Given the description of an element on the screen output the (x, y) to click on. 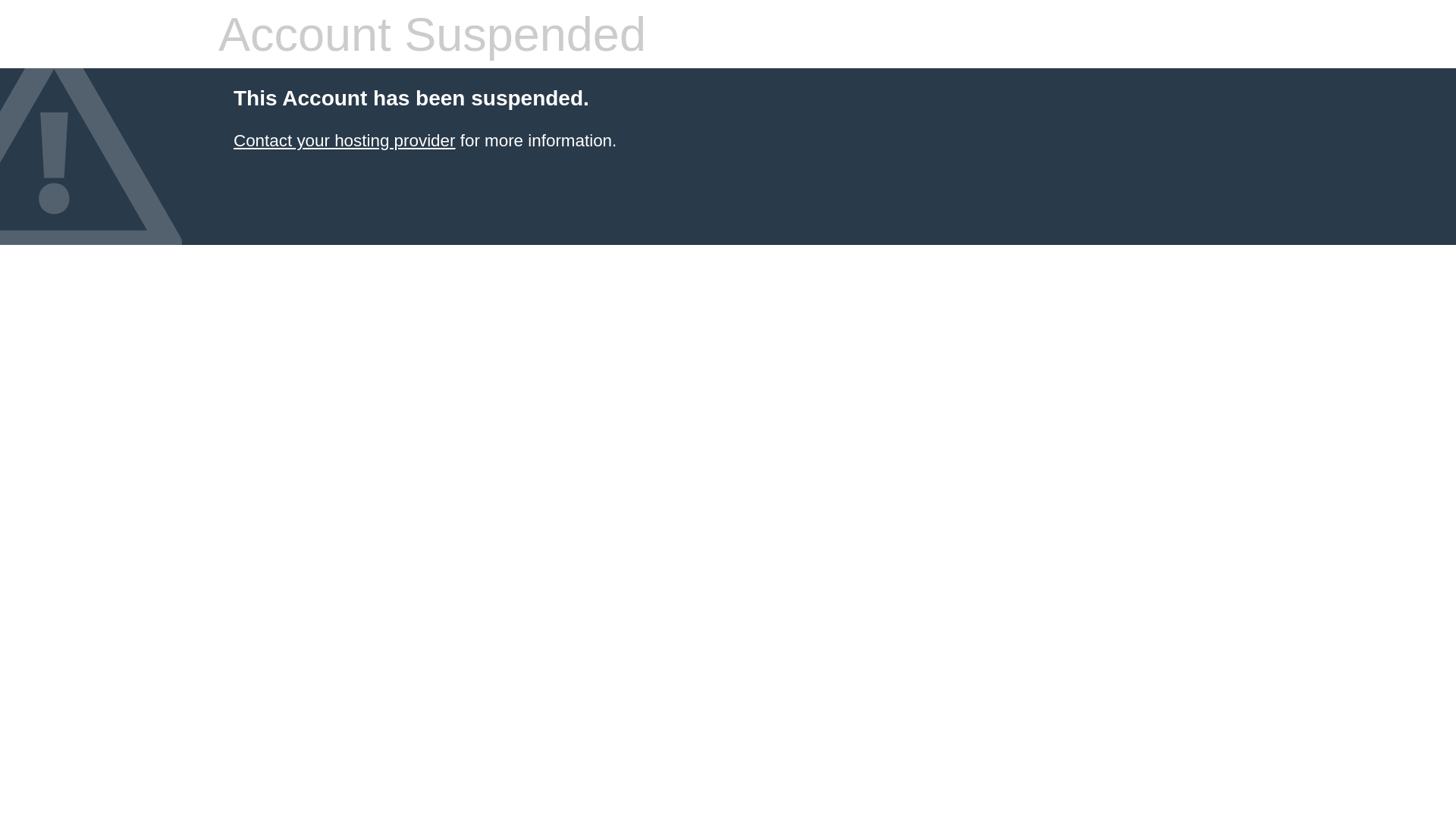
Contact your hosting provider Element type: text (344, 140)
